Given the description of an element on the screen output the (x, y) to click on. 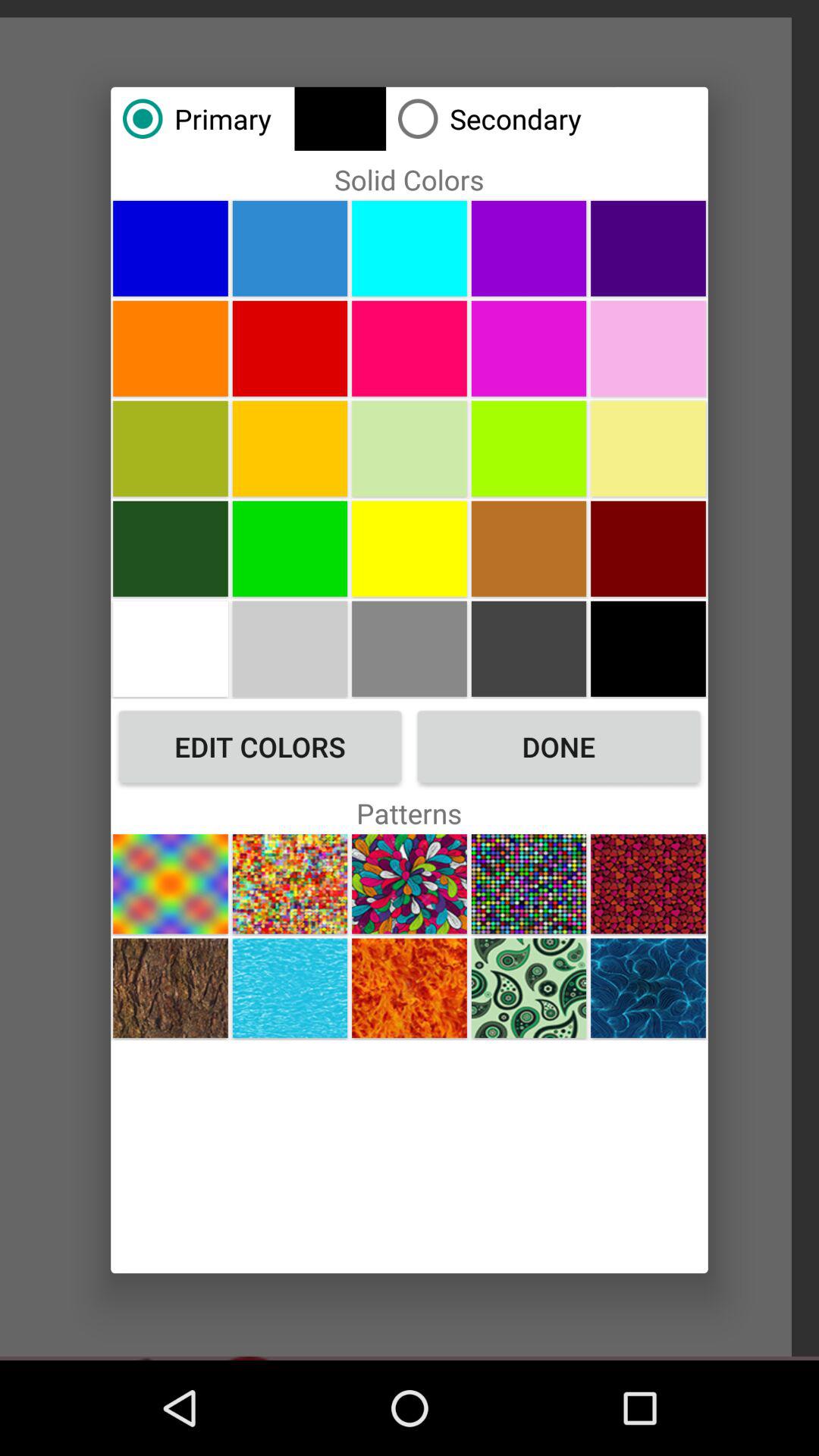
color selection (528, 548)
